Given the description of an element on the screen output the (x, y) to click on. 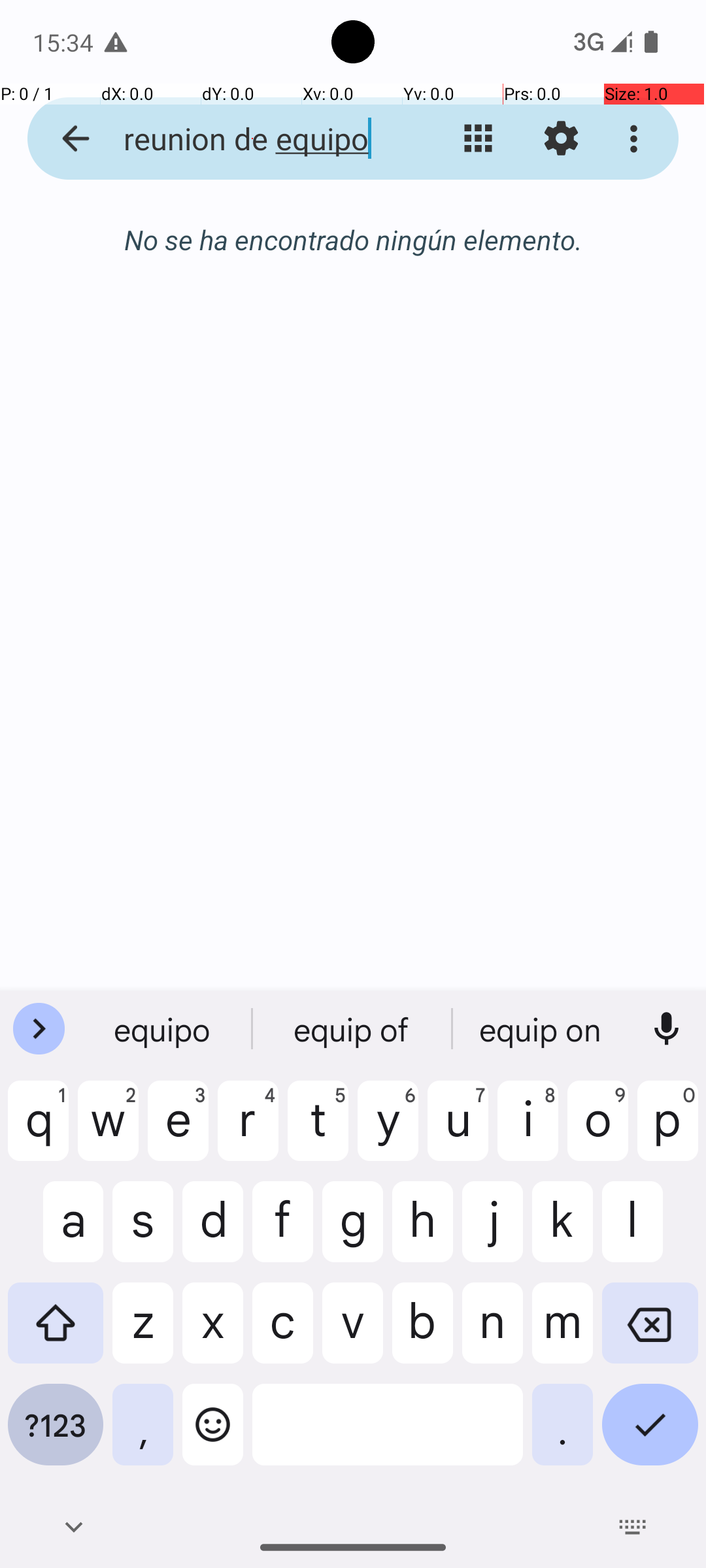
reunion de equipo Element type: android.widget.EditText (252, 138)
equipo Element type: android.widget.FrameLayout (163, 1028)
equipment Element type: android.widget.FrameLayout (541, 1028)
